Given the description of an element on the screen output the (x, y) to click on. 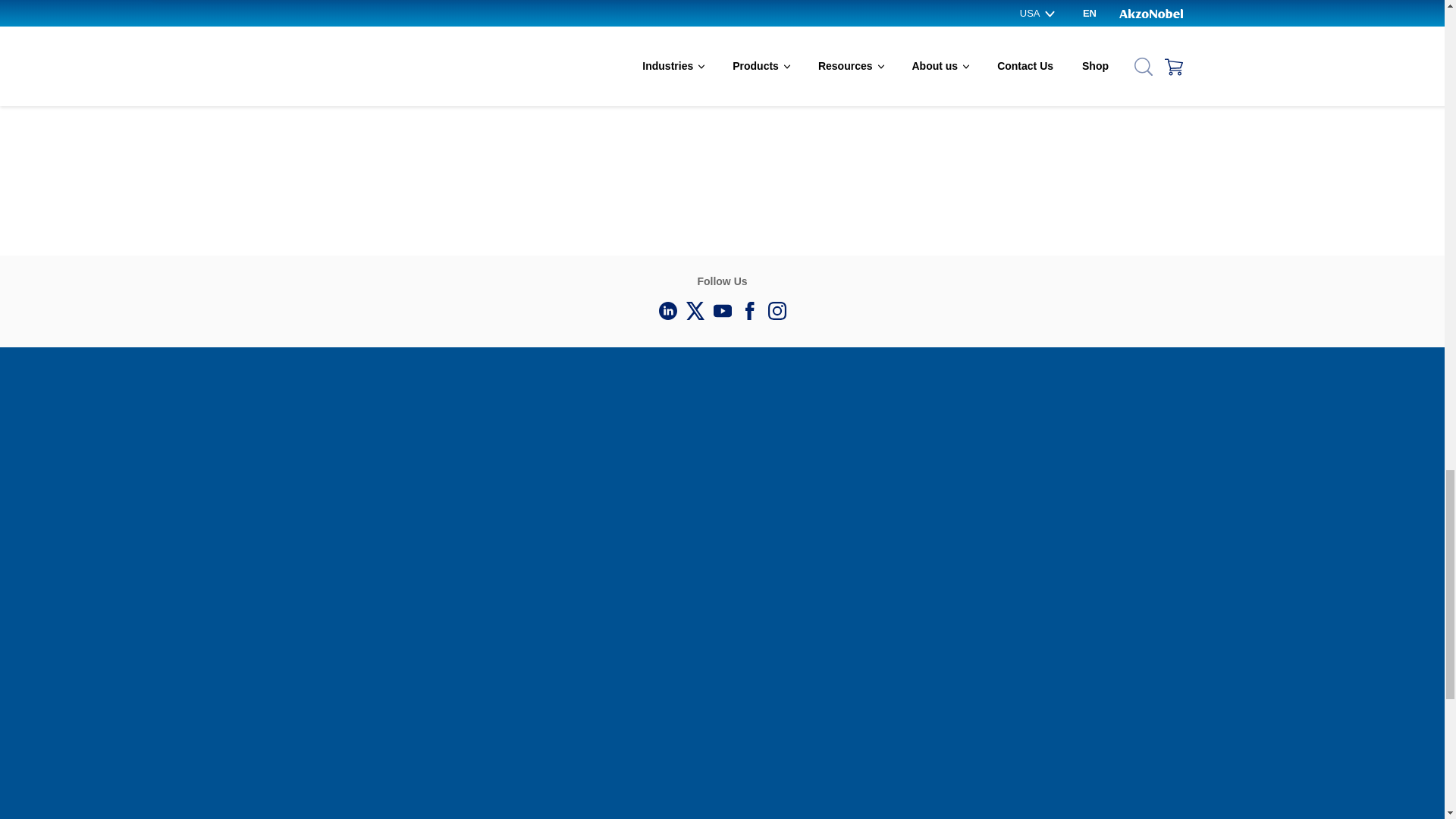
Follow Us (776, 311)
Follow Us (748, 311)
Follow Us (694, 311)
Follow Us (721, 311)
Follow Us (667, 311)
